Given the description of an element on the screen output the (x, y) to click on. 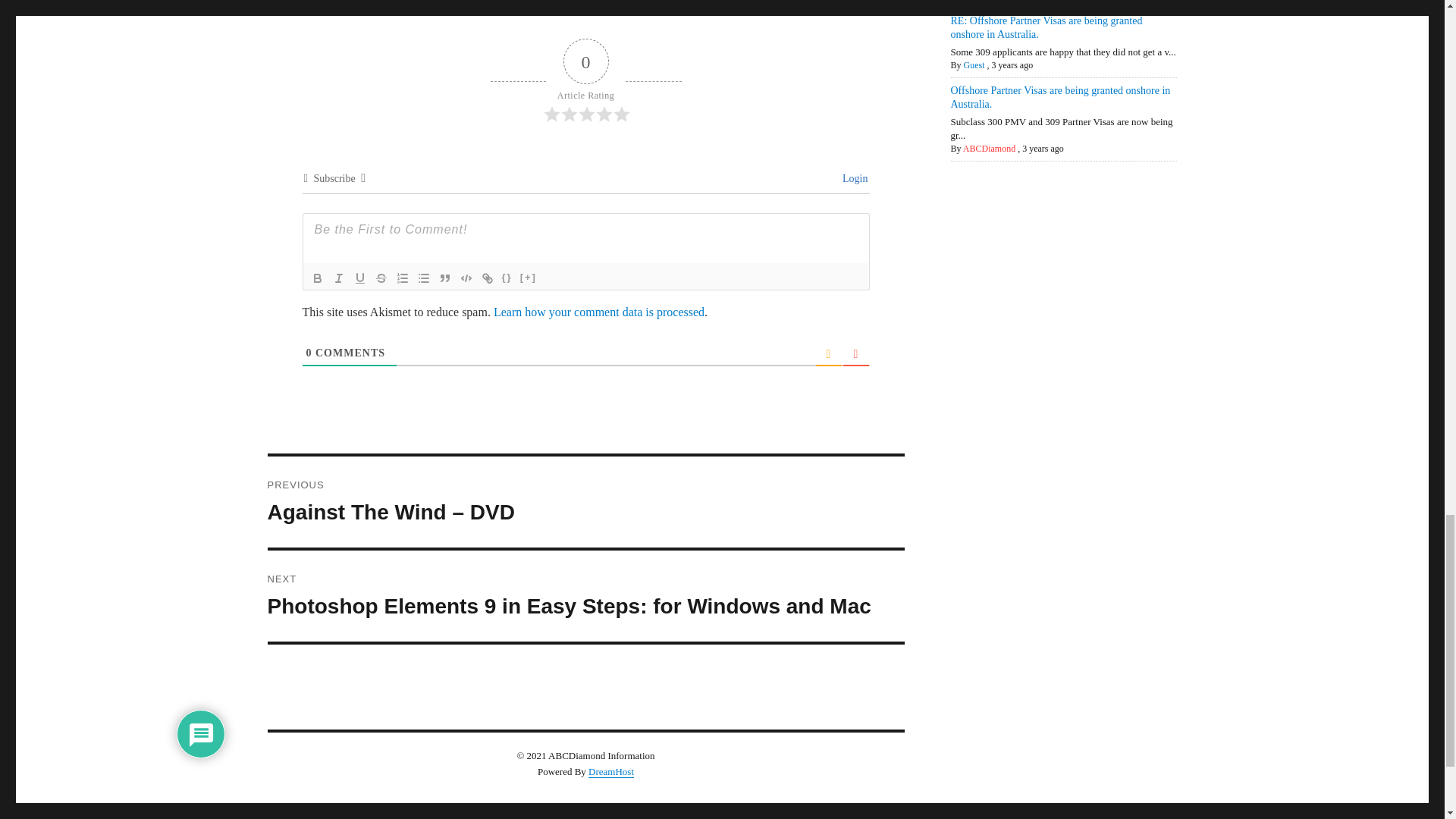
Italic (338, 278)
Ordered List (401, 278)
Strike (380, 278)
Unordered List (422, 278)
Source Code (506, 278)
Code Block (465, 278)
Bold (316, 278)
Blockquote (443, 278)
Underline (359, 278)
Link (486, 278)
